Given the description of an element on the screen output the (x, y) to click on. 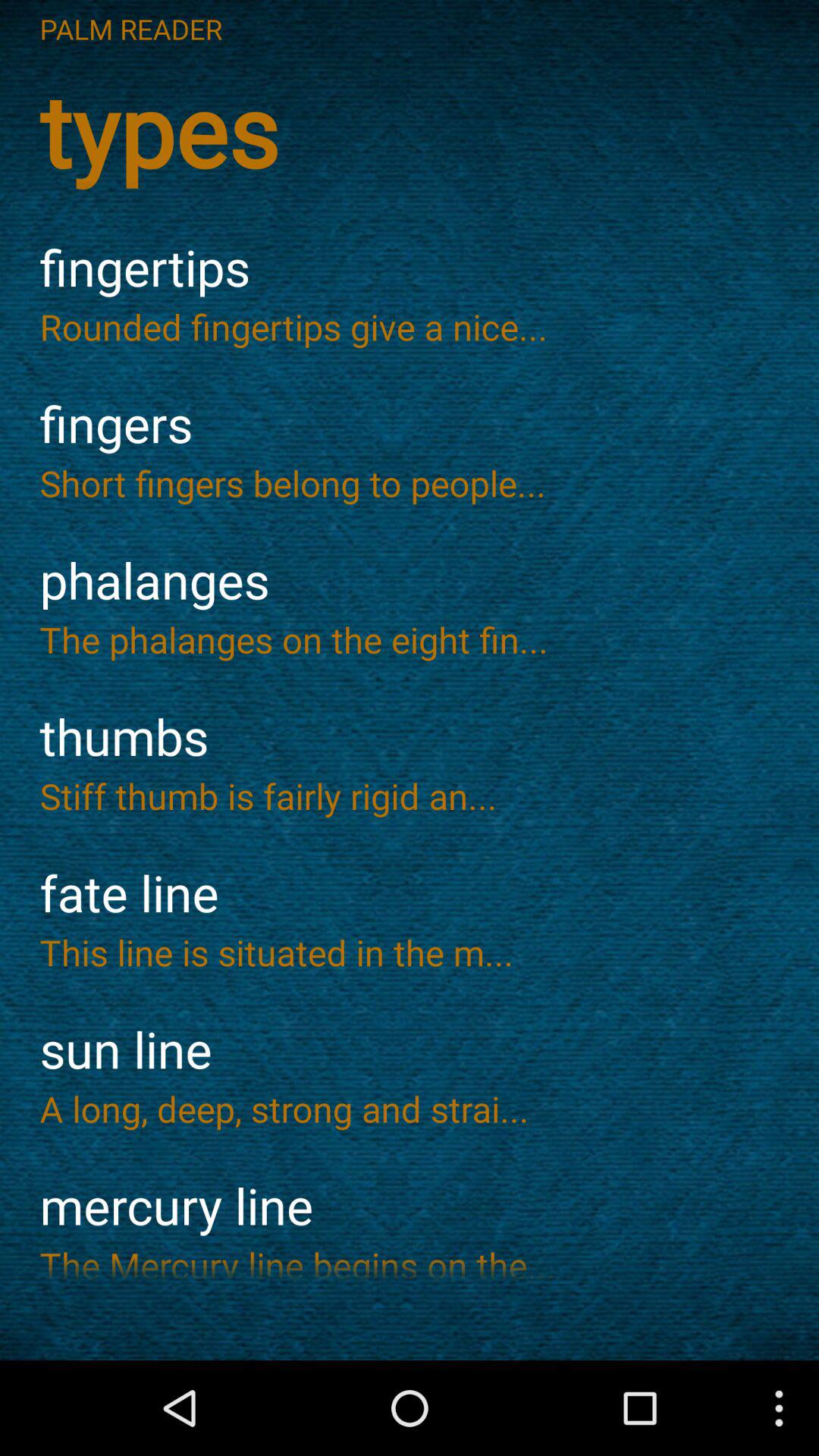
open the icon below fingers icon (409, 482)
